Given the description of an element on the screen output the (x, y) to click on. 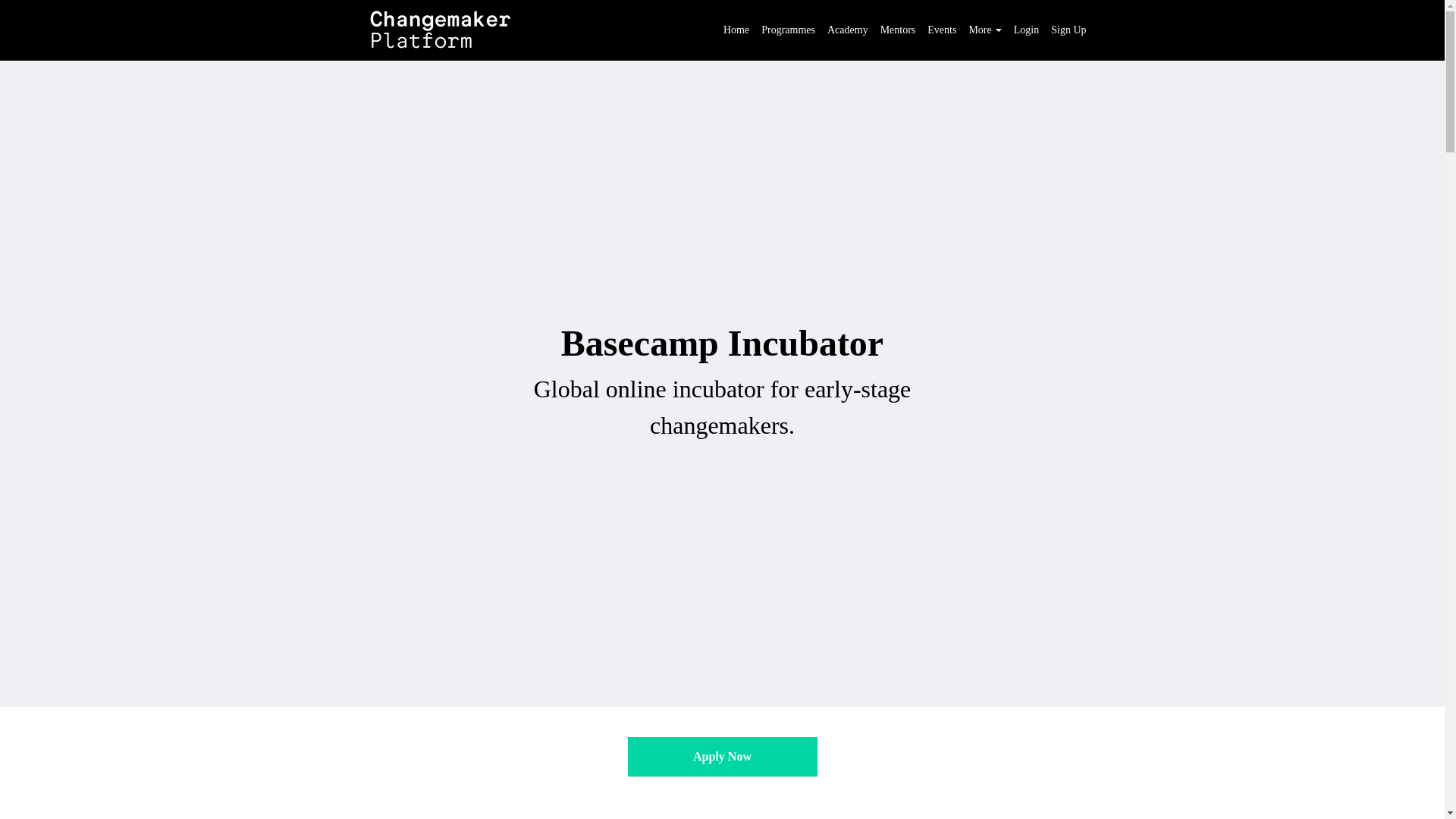
Sign Up (1068, 29)
Home (736, 29)
Apply Now (721, 756)
Programmes (788, 29)
Mentors (897, 29)
Events (941, 29)
More (990, 29)
Apply Now (721, 757)
Login (1026, 29)
Academy (847, 29)
